Given the description of an element on the screen output the (x, y) to click on. 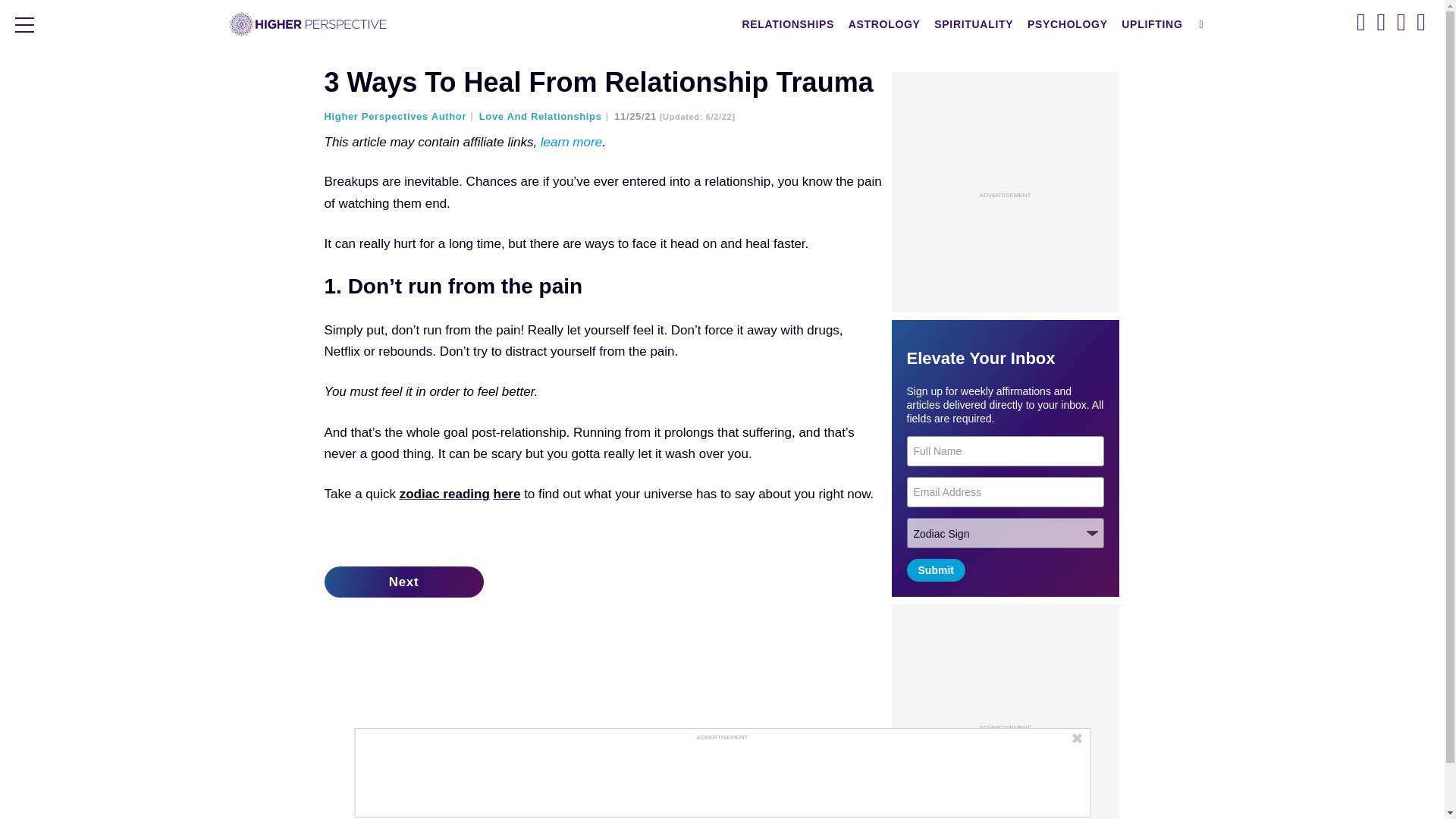
Submit (936, 569)
ASTROLOGY (884, 24)
Posts by Higher Perspectives Author (400, 116)
RELATIONSHIPS (788, 24)
UPLIFTING (1152, 24)
SPIRITUALITY (972, 24)
Love And Relationships (545, 116)
zodiac reading (443, 493)
Higher Perspectives Author (400, 116)
Next (403, 581)
